Given the description of an element on the screen output the (x, y) to click on. 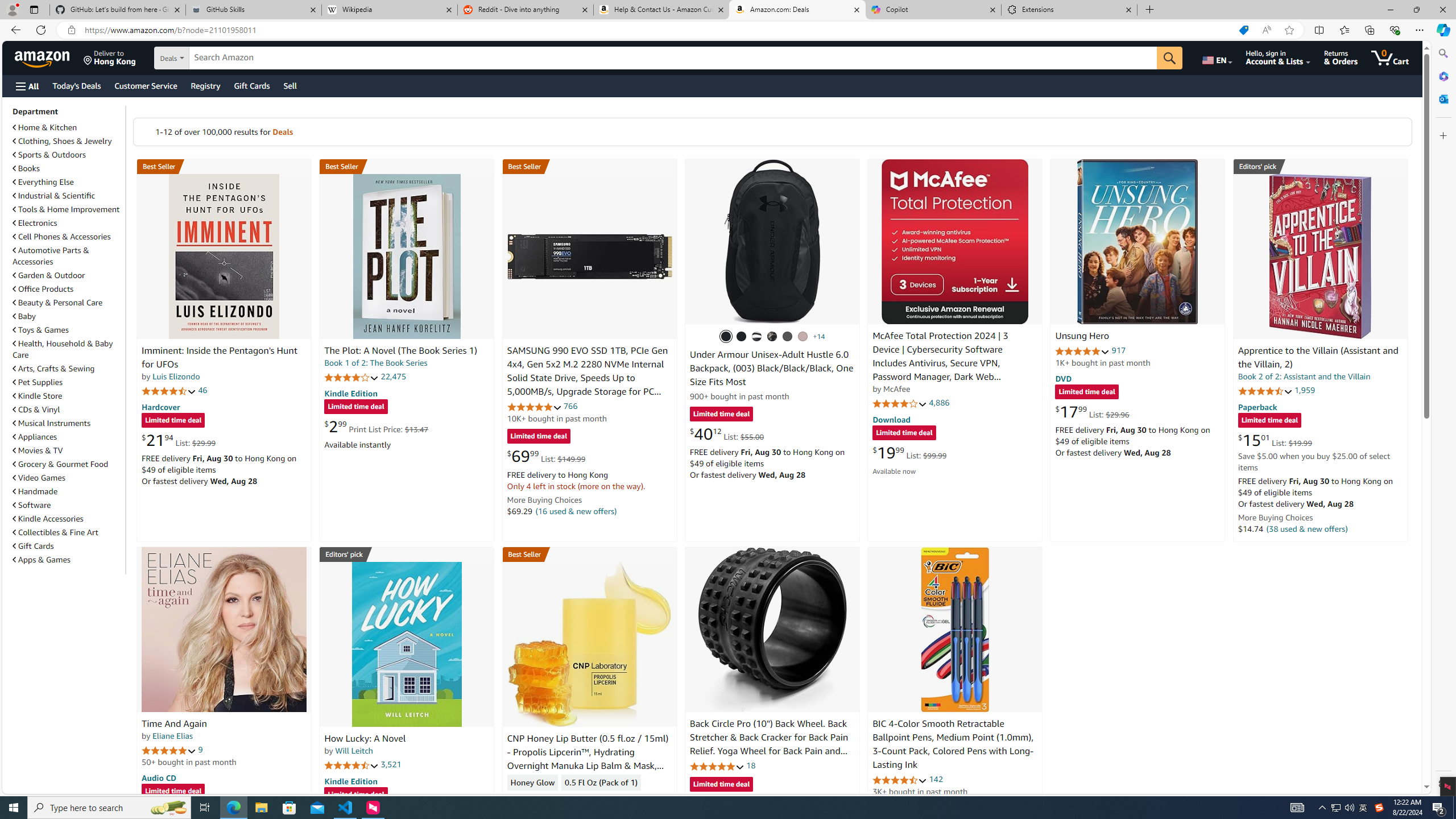
Limited time deal (721, 784)
Tab actions menu (33, 9)
Health, Household & Baby Care (63, 349)
Industrial & Scientific (67, 195)
Deliver to Hong Kong (109, 57)
New Tab (1149, 9)
Cell Phones & Accessories (67, 236)
1,959 (1305, 390)
Cell Phones & Accessories (61, 236)
Health, Household & Baby Care (67, 348)
Settings (1442, 783)
Luis Elizondo (175, 376)
Appliances (34, 436)
